Given the description of an element on the screen output the (x, y) to click on. 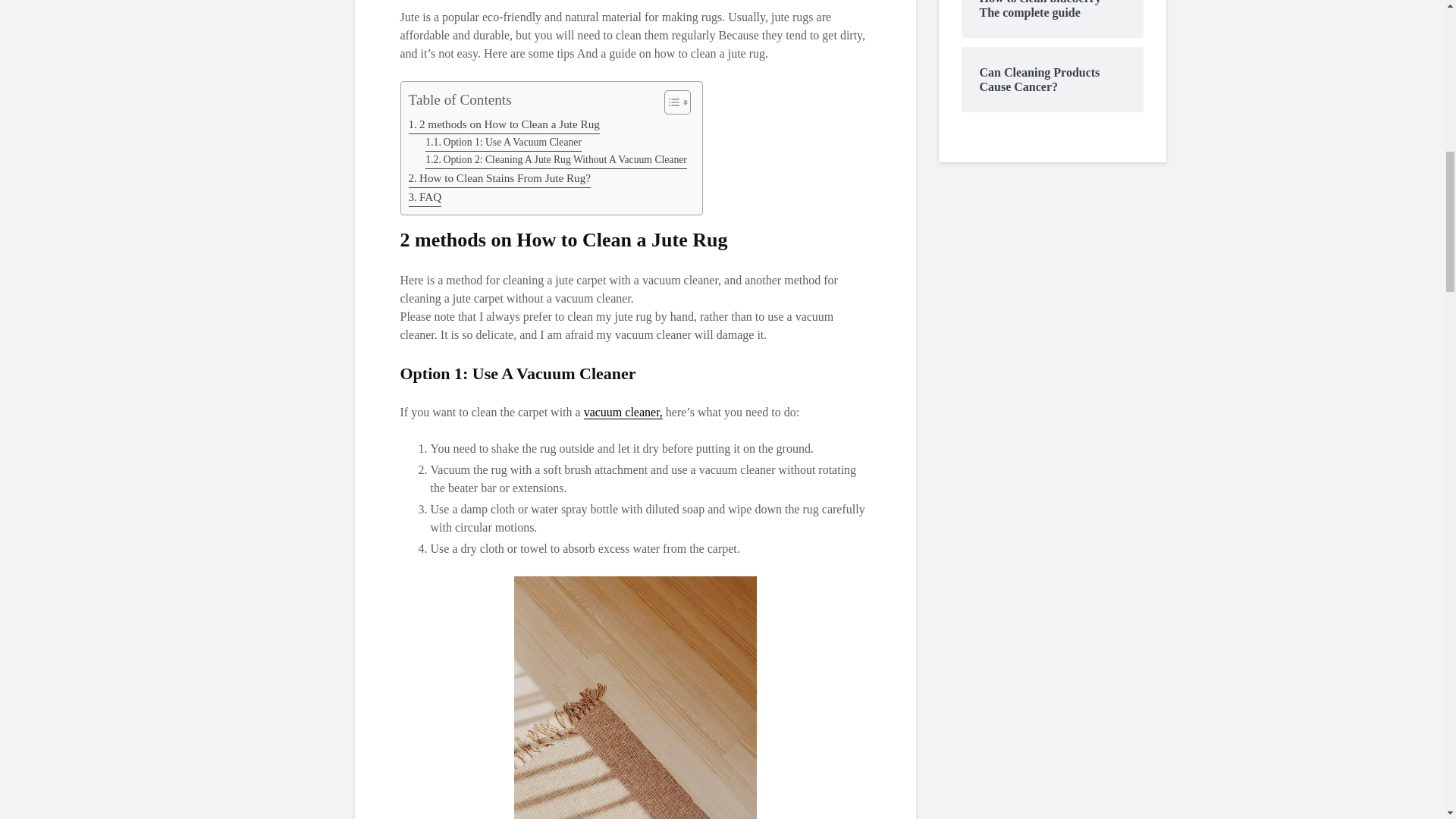
How to Clean Stains From Jute Rug? (499, 178)
FAQ (424, 197)
2 methods on How to Clean a Jute Rug (502, 124)
vacuum cleaner, (622, 412)
How to Clean Stains From Jute Rug? (499, 178)
Option 2: Cleaning A Jute Rug Without A Vacuum Cleaner (556, 159)
Option 1: Use A Vacuum Cleaner (502, 142)
Option 1: Use A Vacuum Cleaner (502, 142)
2 methods on How to Clean a Jute Rug (502, 124)
FAQ (424, 197)
